Given the description of an element on the screen output the (x, y) to click on. 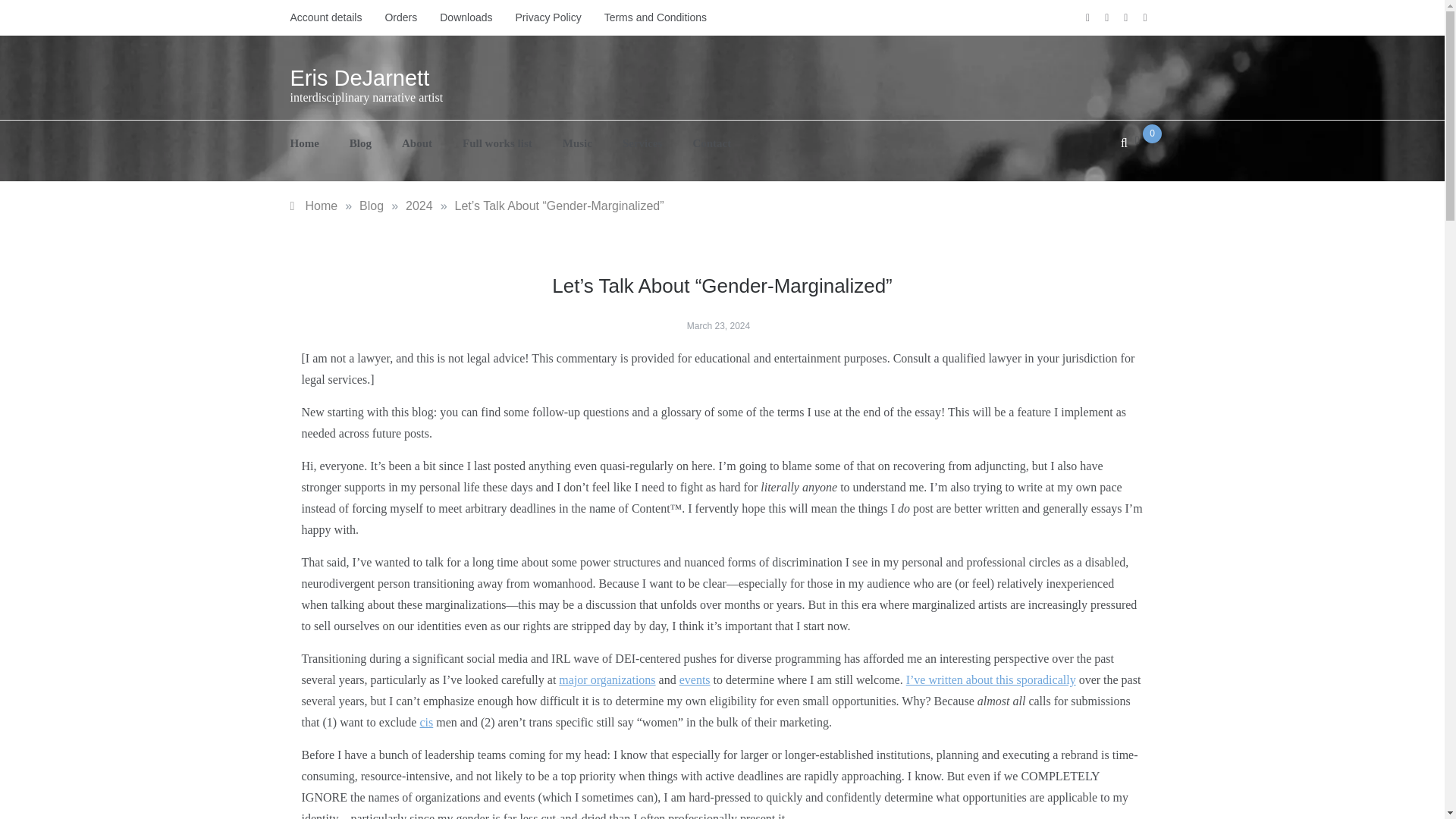
About (416, 143)
Account details (330, 17)
Terms and Conditions (649, 17)
Downloads (465, 17)
Contact (703, 143)
Full works list (496, 143)
Privacy Policy (547, 17)
Orders (400, 17)
March 23, 2024 (718, 326)
cis (425, 721)
